Given the description of an element on the screen output the (x, y) to click on. 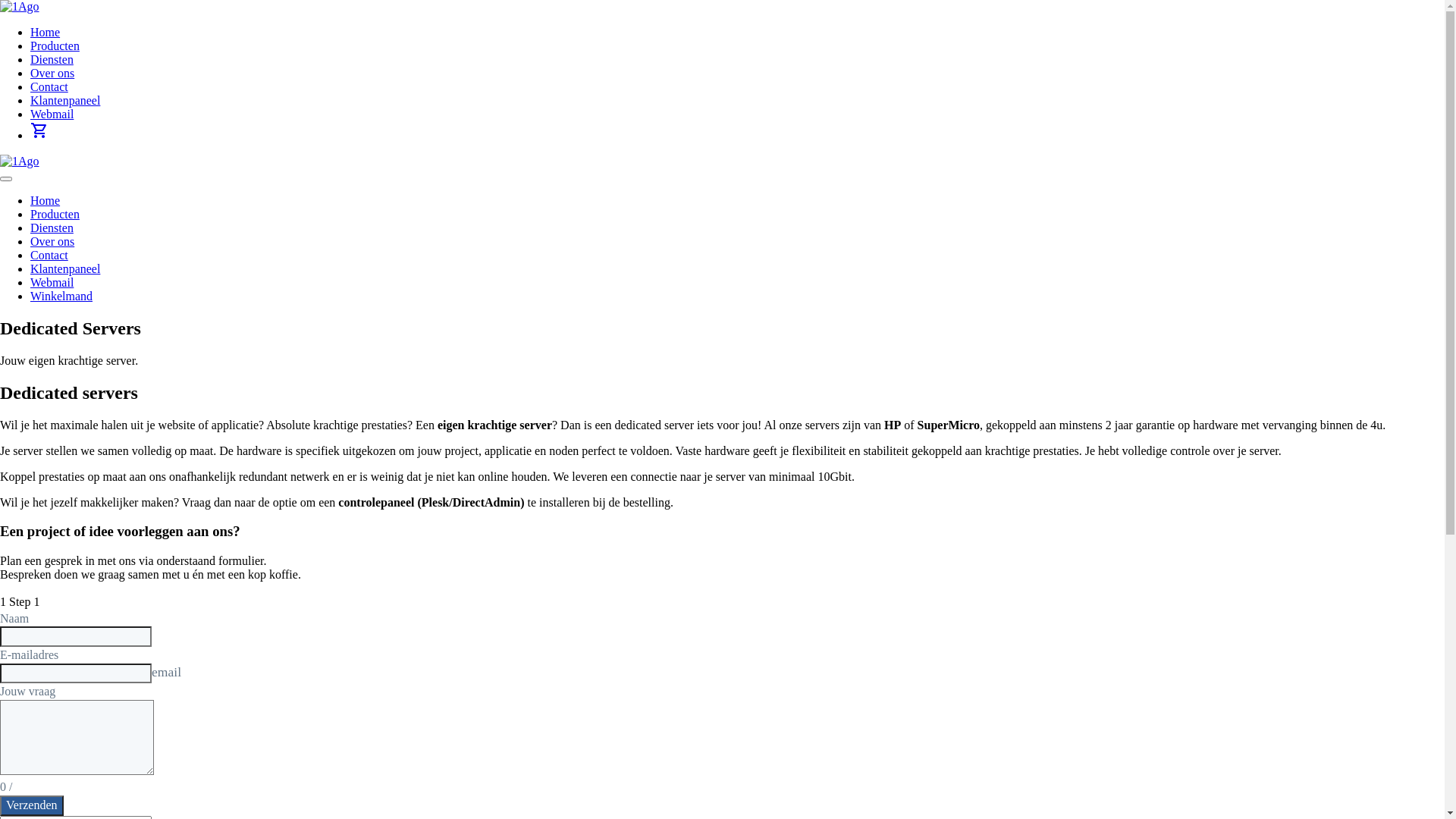
Over ons Element type: text (52, 241)
Klantenpaneel Element type: text (65, 268)
Verzenden Element type: text (31, 805)
Home Element type: text (44, 200)
Diensten Element type: text (51, 59)
Webmail Element type: text (51, 113)
Klantenpaneel Element type: text (65, 100)
Over ons Element type: text (52, 72)
Producten Element type: text (54, 45)
Winkelmand Element type: text (61, 295)
1Ago Element type: hover (19, 6)
Webmail Element type: text (51, 282)
Diensten Element type: text (51, 227)
Contact Element type: text (49, 86)
Producten Element type: text (54, 213)
Contact Element type: text (49, 254)
Menu toggle Element type: text (6, 178)
Home Element type: text (44, 31)
1Ago Element type: hover (19, 161)
